Given the description of an element on the screen output the (x, y) to click on. 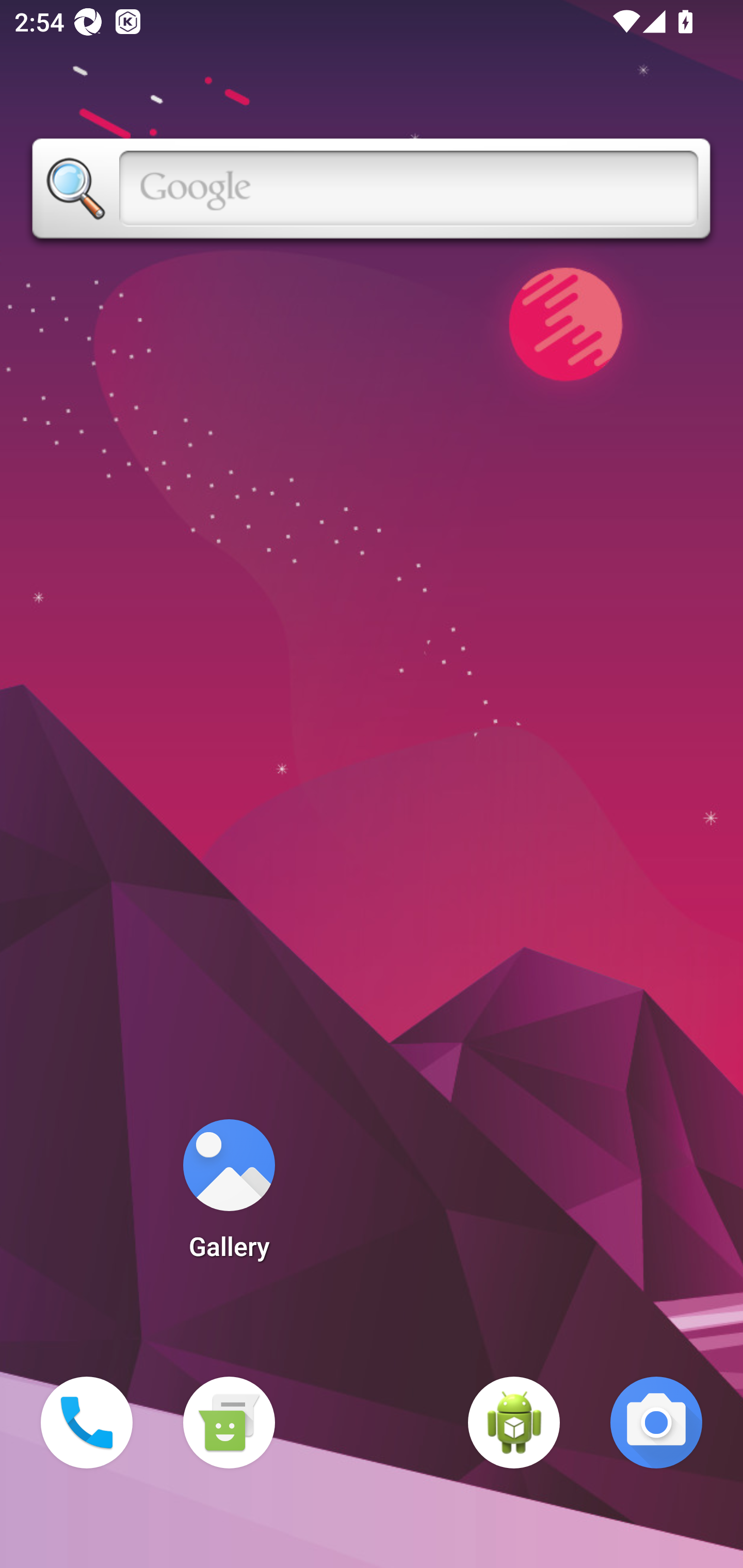
Gallery (228, 1195)
Phone (86, 1422)
Messaging (228, 1422)
WebView Browser Tester (513, 1422)
Camera (656, 1422)
